Given the description of an element on the screen output the (x, y) to click on. 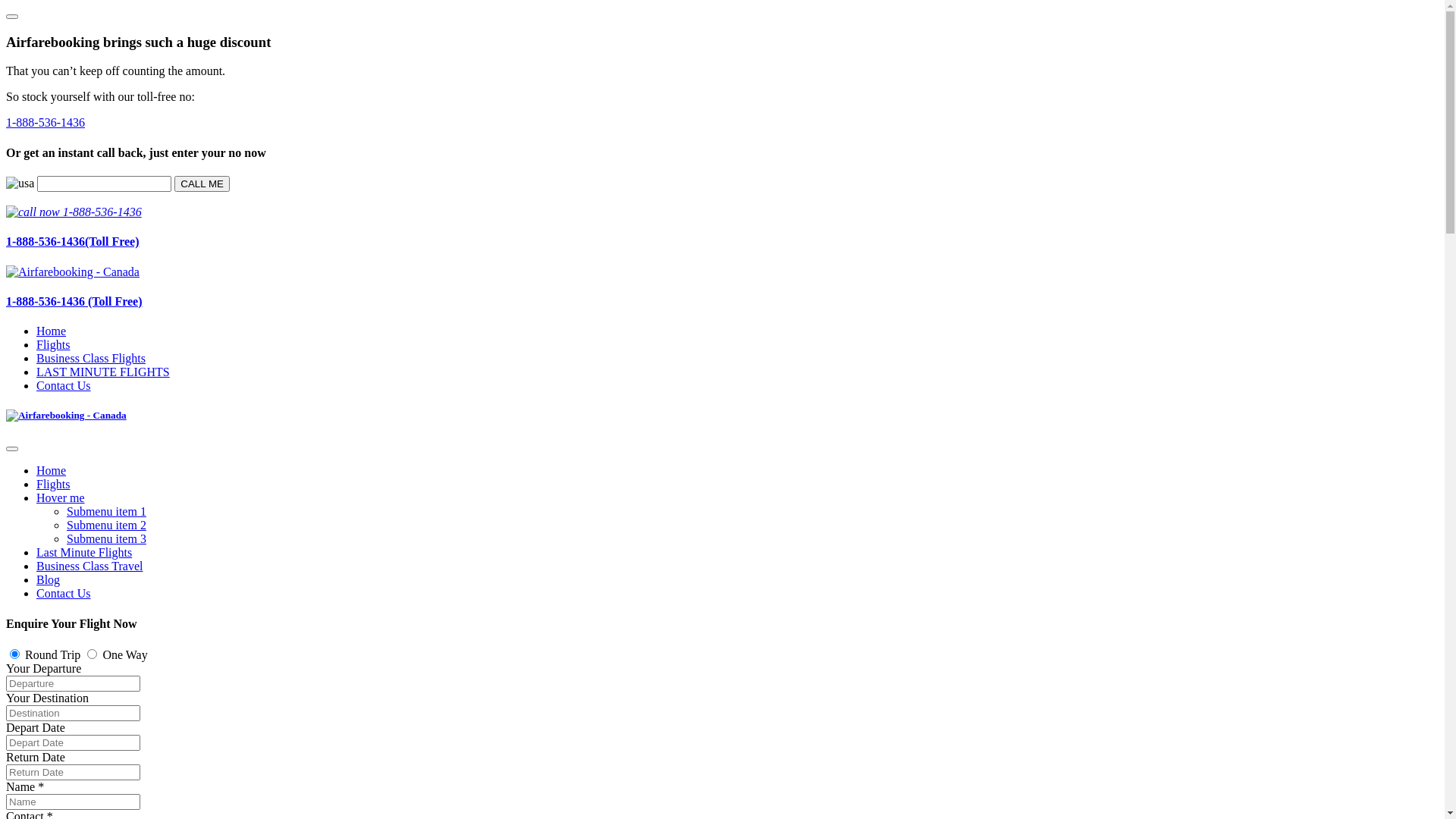
Flights Element type: text (52, 344)
Submenu item 3 Element type: text (106, 538)
Hover me Element type: text (60, 497)
LAST MINUTE FLIGHTS Element type: text (102, 371)
Submenu item 2 Element type: text (106, 524)
1-888-536-1436(Toll Free) Element type: text (722, 226)
Flights Element type: text (52, 483)
1-888-536-1436 (Toll Free) Element type: text (722, 301)
Last Minute Flights Element type: text (83, 552)
Submenu item 1 Element type: text (106, 511)
Contact Us Element type: text (63, 592)
Contact Us Element type: text (63, 385)
Home Element type: text (50, 330)
CALL ME Element type: text (201, 183)
Home Element type: text (50, 470)
Business Class Flights Element type: text (90, 357)
Blog Element type: text (47, 579)
Business Class Travel Element type: text (89, 565)
1-888-536-1436 Element type: text (45, 122)
